Given the description of an element on the screen output the (x, y) to click on. 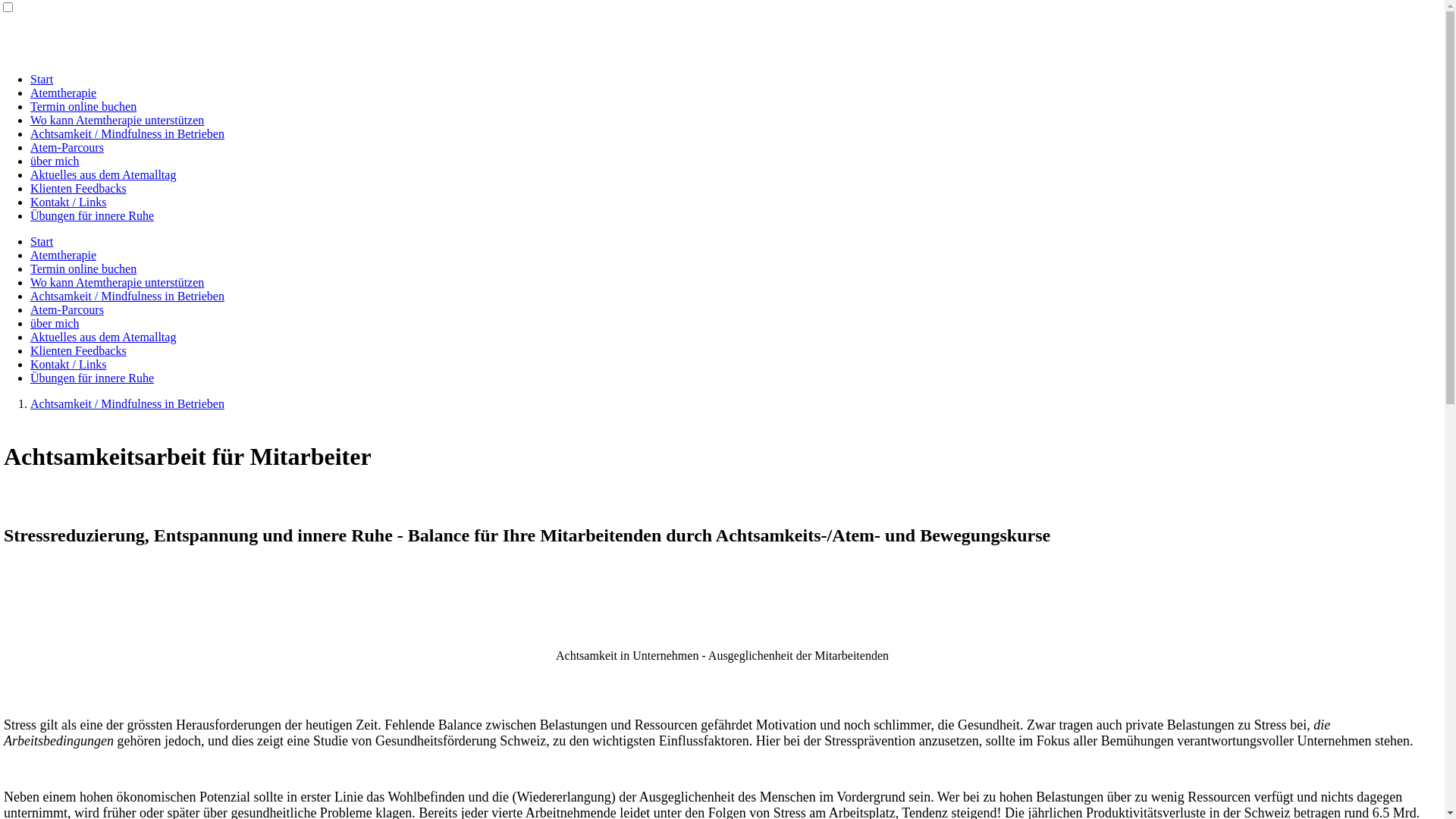
Termin online buchen Element type: text (83, 268)
Aktuelles aus dem Atemalltag Element type: text (102, 336)
Kontakt / Links Element type: text (68, 201)
Achtsamkeit / Mindfulness in Betrieben Element type: text (127, 295)
Achtsamkeit / Mindfulness in Betrieben Element type: text (127, 133)
Start Element type: text (41, 241)
Kontakt / Links Element type: text (68, 363)
Achtsamkeit / Mindfulness in Betrieben Element type: text (127, 403)
Atem-Parcours Element type: text (66, 147)
Start Element type: text (41, 78)
Aktuelles aus dem Atemalltag Element type: text (102, 174)
Atem-Parcours Element type: text (66, 309)
Atemtherapie Element type: text (63, 92)
Klienten Feedbacks Element type: text (78, 350)
Atemtherapie Element type: text (63, 254)
Klienten Feedbacks Element type: text (78, 188)
Termin online buchen Element type: text (83, 106)
